Given the description of an element on the screen output the (x, y) to click on. 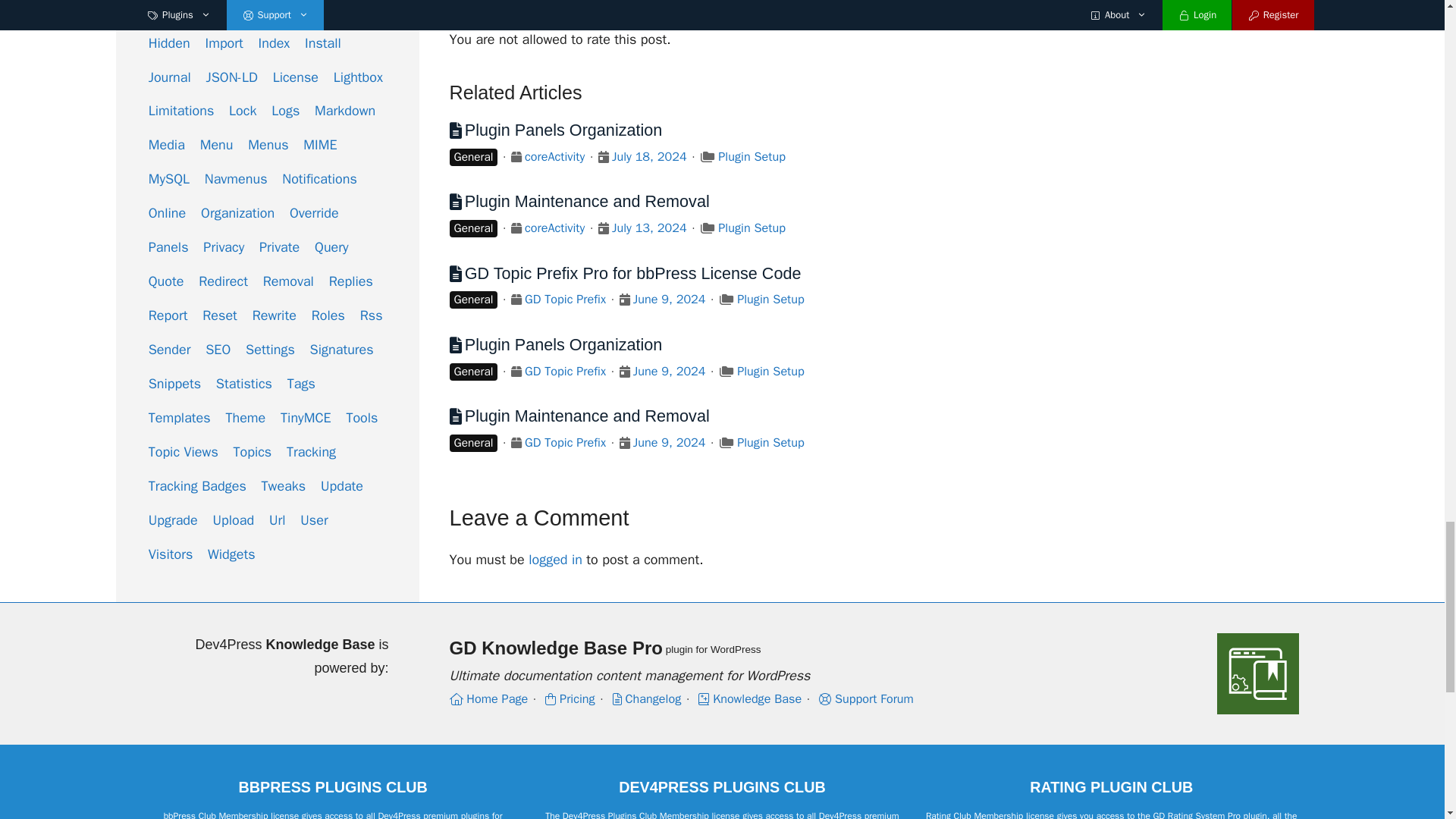
Number of views (1268, 10)
Helpful count (1157, 10)
Not helpful count (1207, 10)
